Given the description of an element on the screen output the (x, y) to click on. 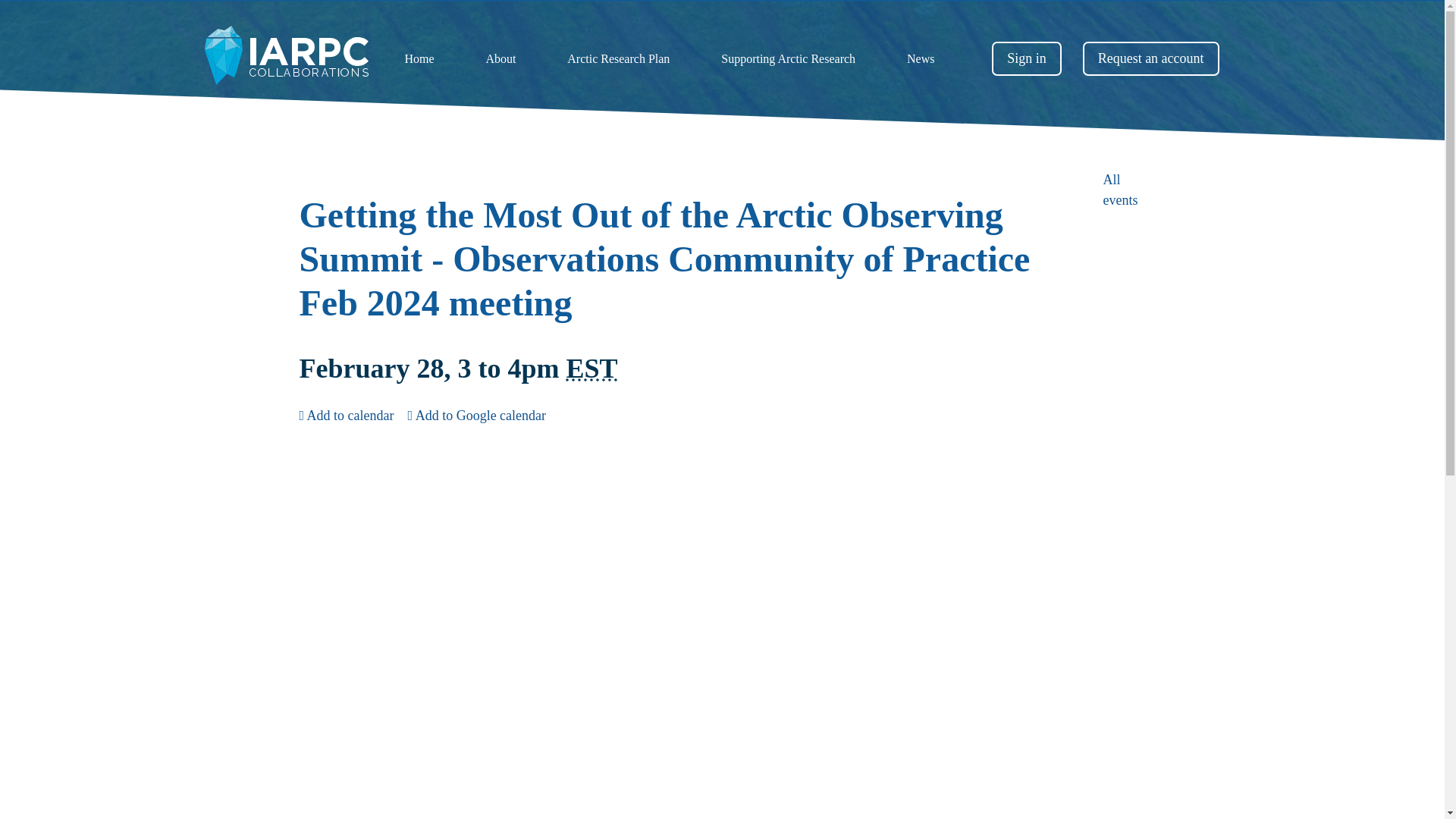
Home (418, 58)
Arctic Research Plan (617, 58)
Supporting Arctic Research (788, 58)
About (500, 58)
Eastern Standard Time (591, 368)
